Given the description of an element on the screen output the (x, y) to click on. 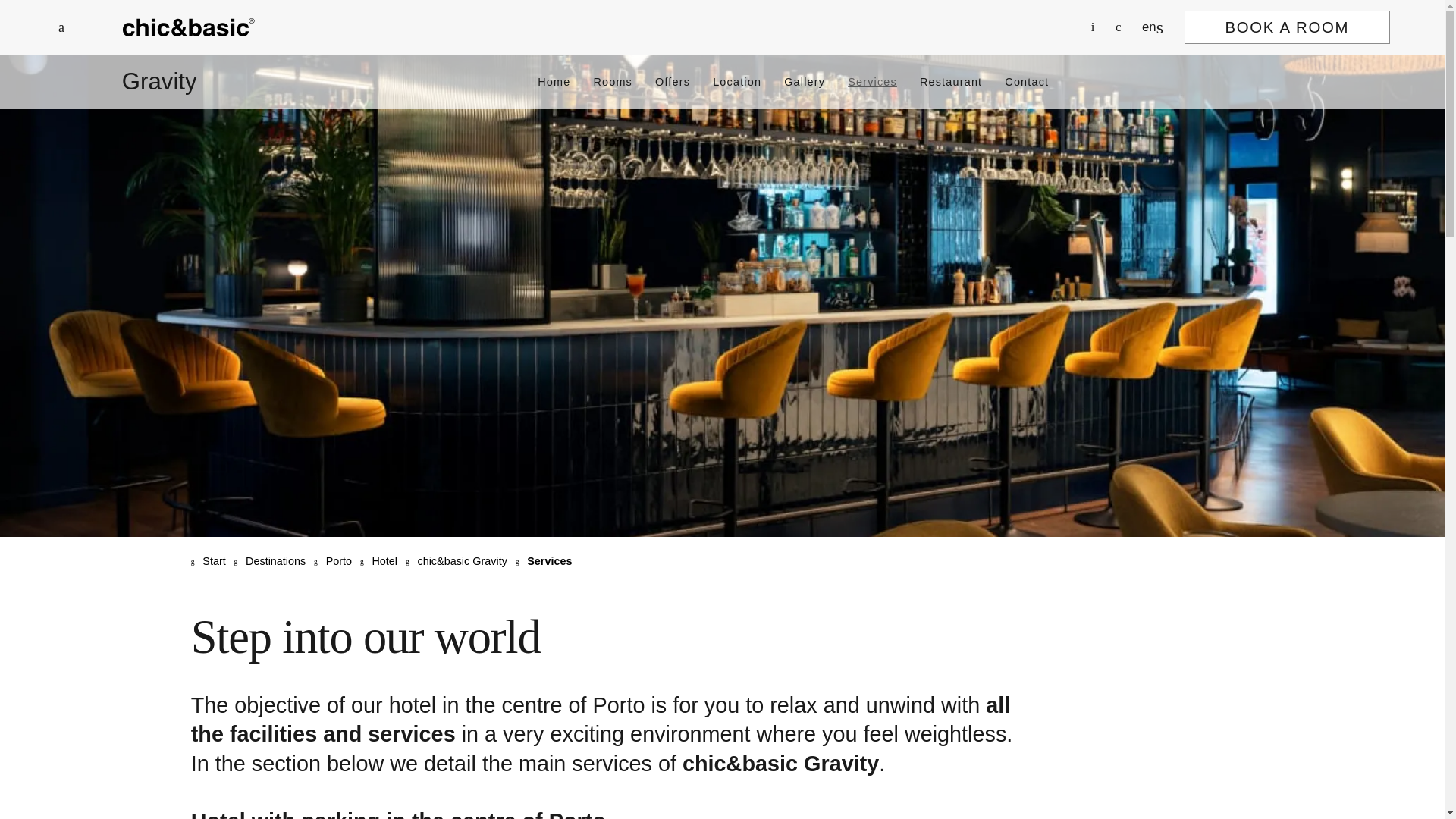
Location (737, 81)
Gallery (804, 81)
Gallery (804, 81)
Offers (672, 81)
Rooms (611, 81)
Contact (1026, 81)
Services and Facilities (871, 81)
Rooms (611, 81)
Restaurant (950, 81)
Services (871, 81)
Home (553, 81)
Offers (672, 81)
Contact (1026, 81)
Home (188, 27)
Restaurant (950, 81)
